Given the description of an element on the screen output the (x, y) to click on. 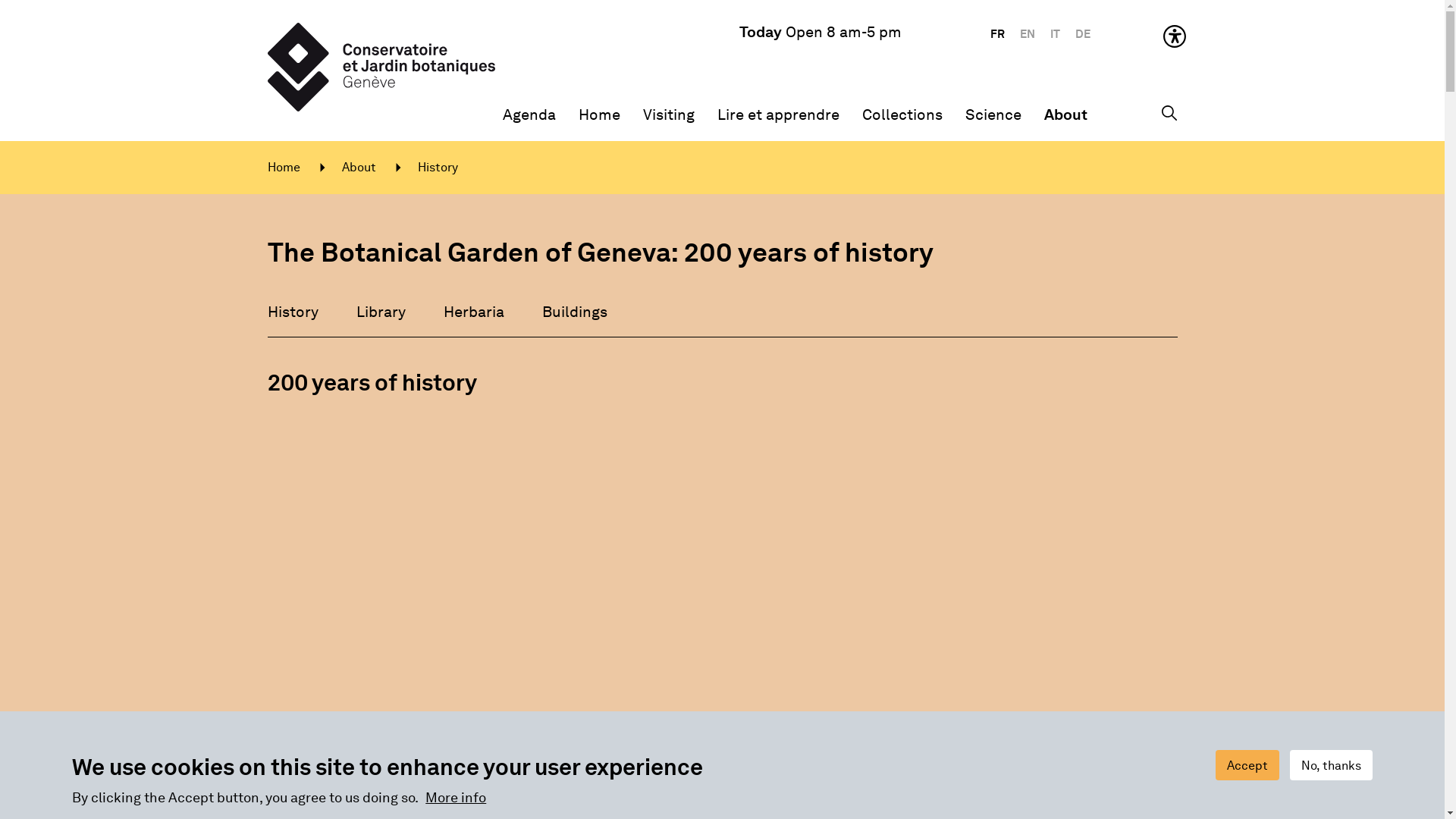
Search Element type: hover (1168, 111)
History Element type: text (297, 311)
Home Element type: hover (485, 66)
Herbaria Element type: text (478, 311)
History Element type: text (437, 167)
Skip to main content Element type: text (0, 0)
Accept Element type: text (1247, 764)
No, thanks Element type: text (1330, 764)
Buildings Element type: text (579, 311)
Library Element type: text (386, 311)
DE Element type: text (1082, 34)
Home Element type: text (303, 167)
Accessibility tools Element type: hover (1178, 35)
IT Element type: text (1054, 34)
More info Element type: text (455, 797)
FR Element type: text (997, 34)
EN Element type: text (1026, 34)
Home Element type: text (599, 114)
